Given the description of an element on the screen output the (x, y) to click on. 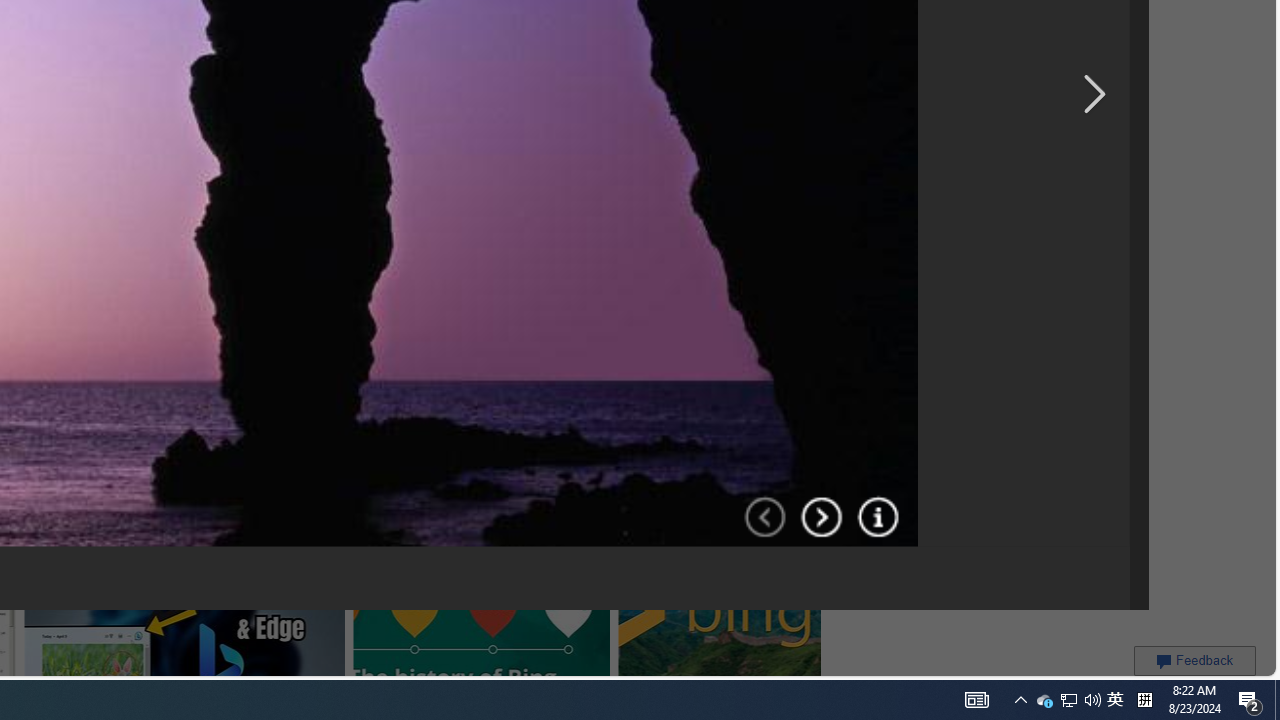
microsoft bing (463, 16)
Microsoft Bing Search | Enfew (763, 24)
Bing (2009) (RARE/FAKE) - YouTube (345, 253)
Remove the 'News & Interests' bar from Bing | TechLife (228, 16)
Bing (2009) (RARE/FAKE) - YouTube (377, 253)
Remove the 'News & Interests' bar from Bing | TechLife (233, 16)
